Given the description of an element on the screen output the (x, y) to click on. 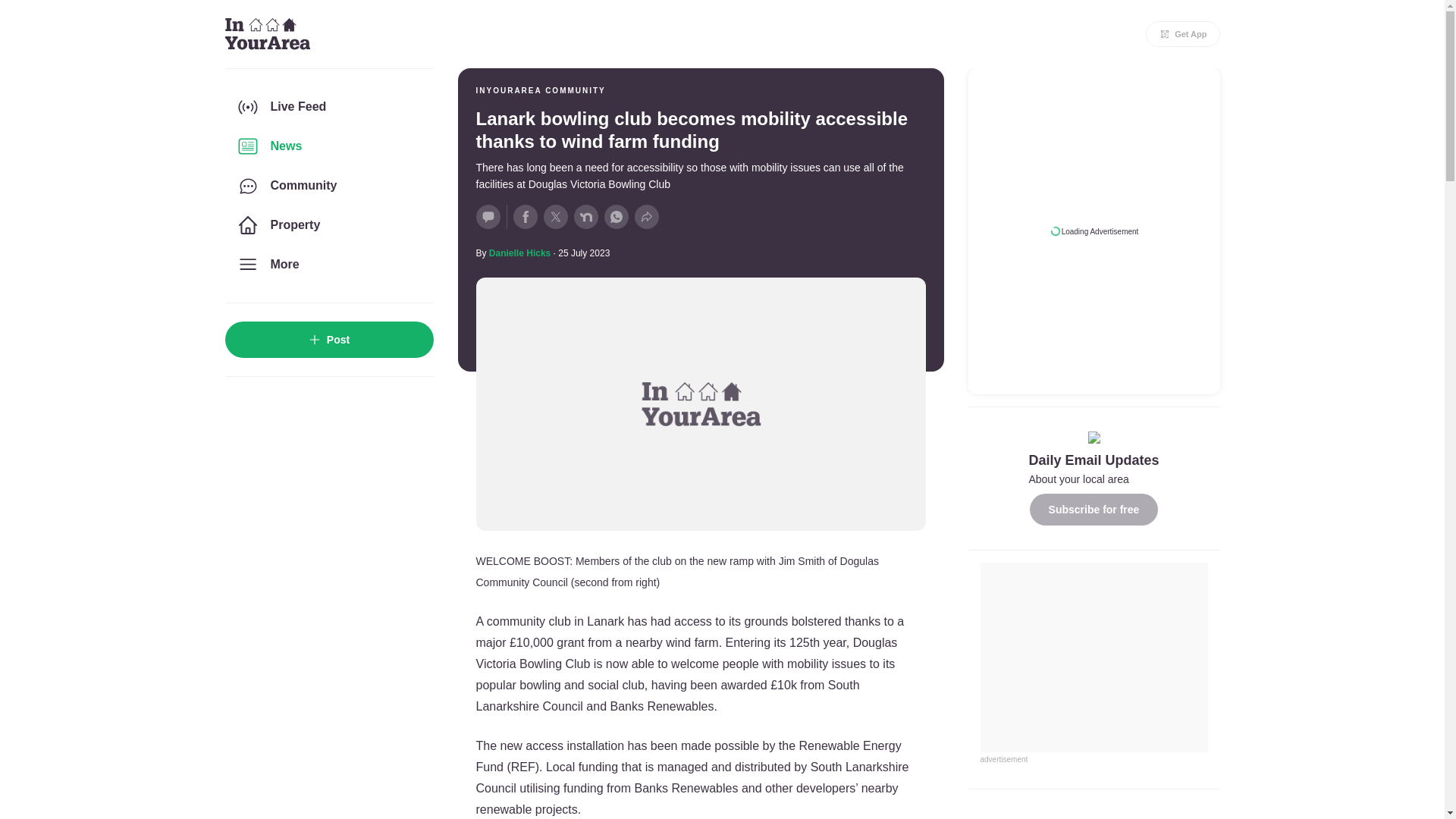
Share to Whatsapp (615, 216)
Share to Nextdoor (584, 216)
Live Feed (328, 106)
Get App (1182, 33)
News (328, 146)
Social Button (488, 216)
Get App (1182, 33)
Share to Facebook (524, 216)
INYOURAREA COMMUNITY (540, 90)
Community (328, 185)
